Given the description of an element on the screen output the (x, y) to click on. 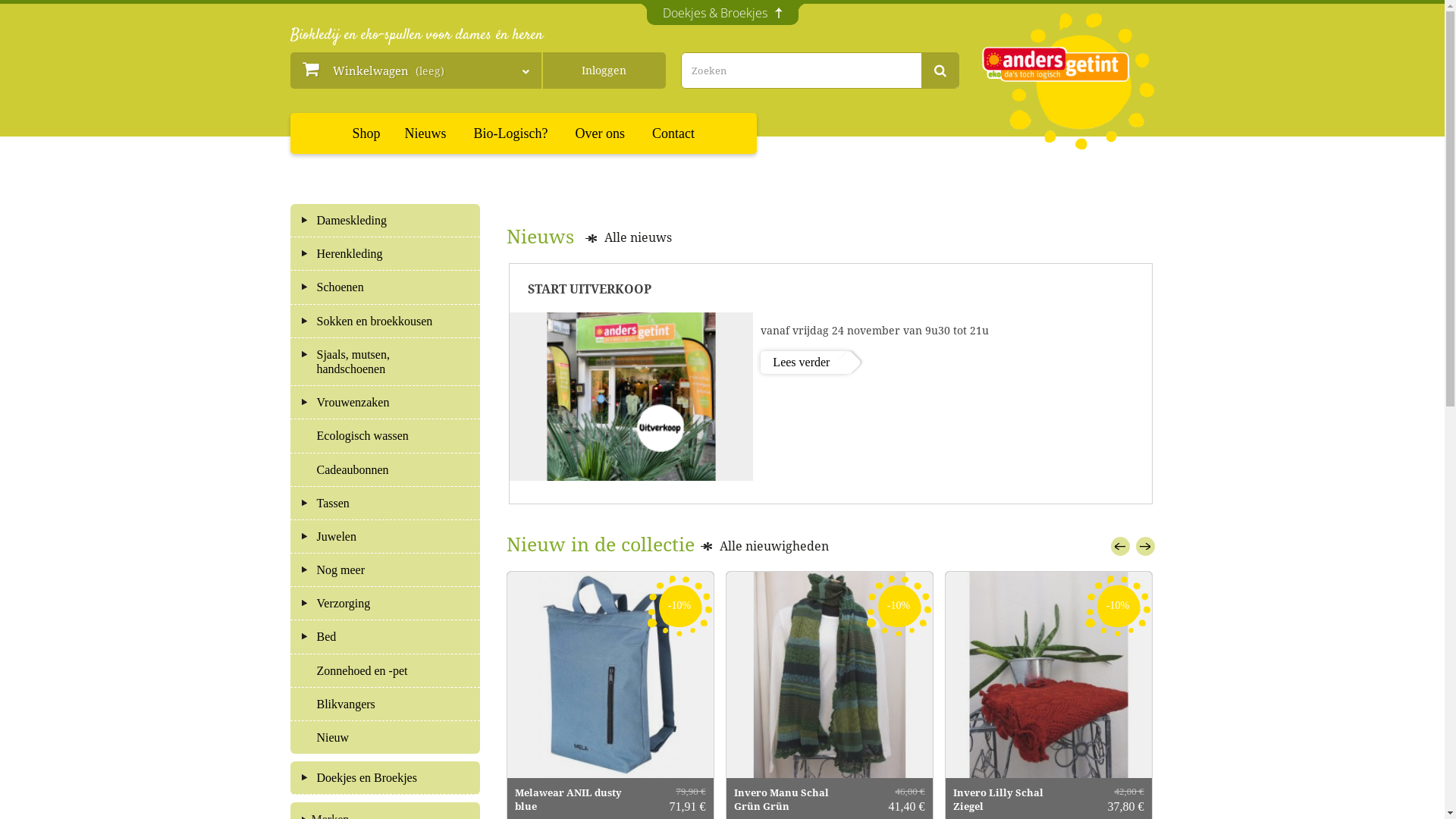
Bed Element type: text (384, 636)
Invero Lilly Schal Ziegel Element type: hover (1047, 674)
Sokken en broekkousen Element type: text (384, 320)
Verzorging Element type: text (384, 602)
START UITVERKOOP Element type: text (830, 287)
Winkelwagen (leeg) Element type: text (414, 70)
Juwelen Element type: text (384, 536)
Melawear ANIL dusty blue Element type: hover (609, 674)
Nieuw Element type: text (384, 737)
Over ons Element type: text (600, 132)
Sjaals, mutsen, handschoenen Element type: text (384, 361)
Tassen Element type: text (384, 502)
Alle nieuwigheden Element type: text (764, 546)
Nog meer Element type: text (384, 569)
Inloggen Element type: text (603, 70)
Doekjes en Broekjes Element type: text (384, 777)
Alle nieuws Element type: text (628, 238)
Shop Element type: text (366, 132)
Ecologisch wassen Element type: text (384, 435)
Herenkleding Element type: text (384, 253)
Zonnehoed en -pet Element type: text (384, 670)
Cadeaubonnen Element type: text (384, 469)
Nieuws Element type: text (425, 132)
START UITVERKOOP Element type: hover (631, 396)
Contact Element type: text (673, 132)
Schoenen Element type: text (384, 286)
Blikvangers Element type: text (384, 703)
Doekjes & Broekjes Element type: text (721, 14)
Vrouwenzaken Element type: text (384, 401)
Bio-Logisch? Element type: text (510, 132)
Dameskleding Element type: text (384, 219)
Lees verder Element type: text (805, 361)
Andersgetint Element type: hover (1067, 80)
